Given the description of an element on the screen output the (x, y) to click on. 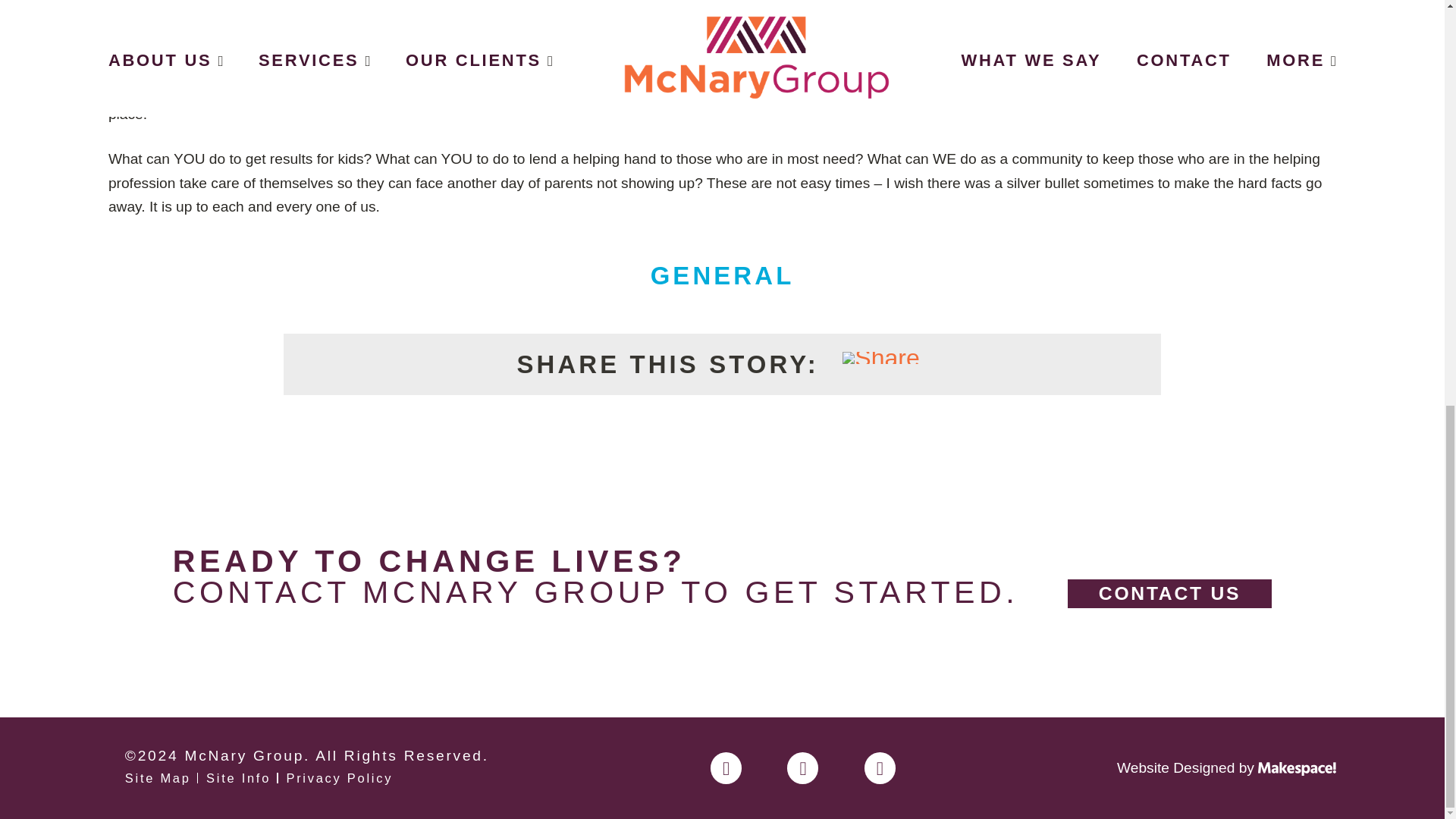
Privacy Policy (339, 777)
Louisville Web Design (1296, 769)
Site Map (157, 777)
Site Info (238, 777)
